Given the description of an element on the screen output the (x, y) to click on. 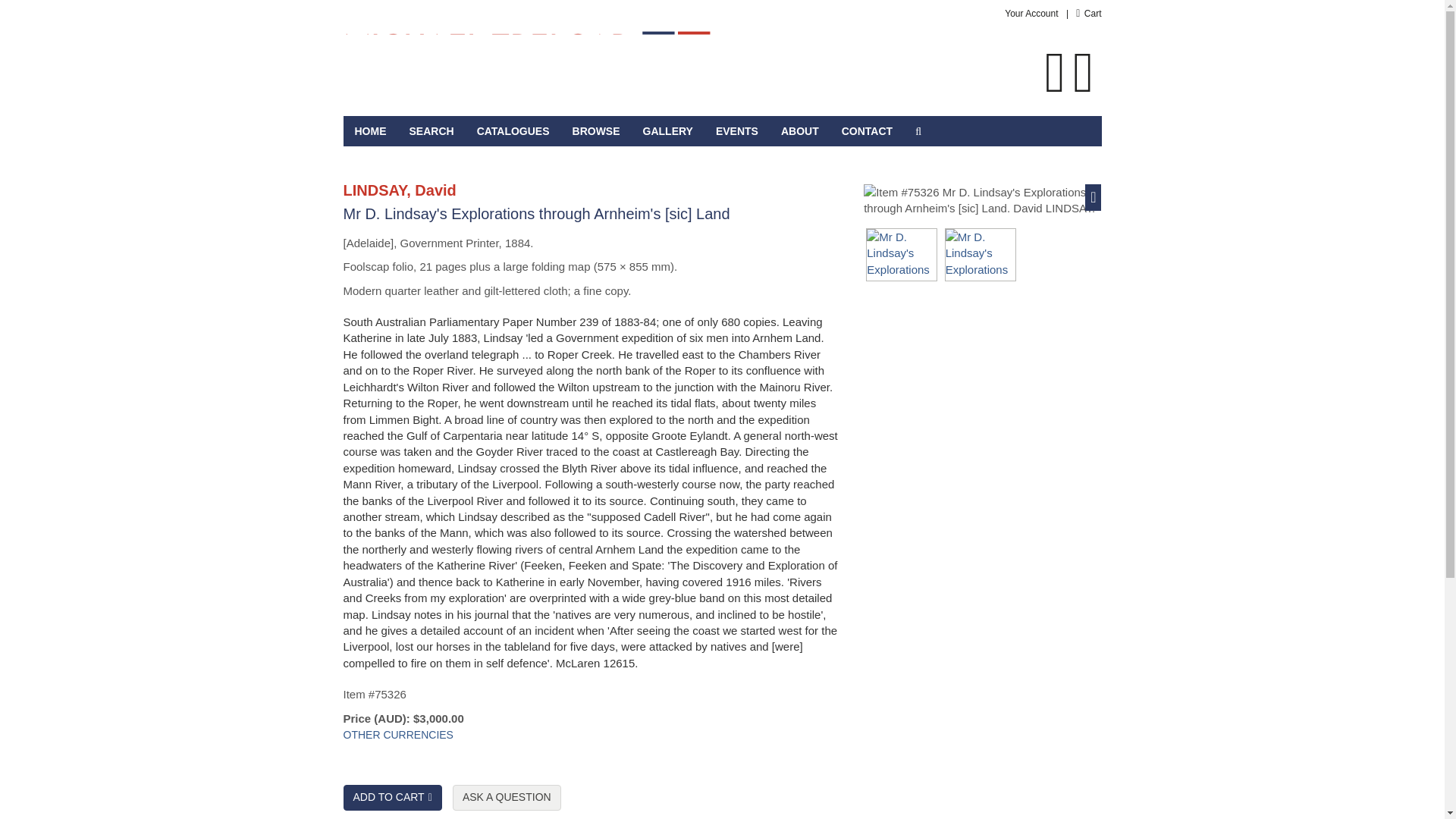
Cart (1087, 13)
SEARCH (430, 131)
OTHER CURRENCIES (397, 735)
ASK A QUESTION (506, 797)
Michael Treloar Antiquarian Booksellers (526, 57)
BROWSE (595, 131)
EVENTS (737, 131)
Your Account (1031, 13)
GALLERY (667, 131)
ABOUT (799, 131)
